Given the description of an element on the screen output the (x, y) to click on. 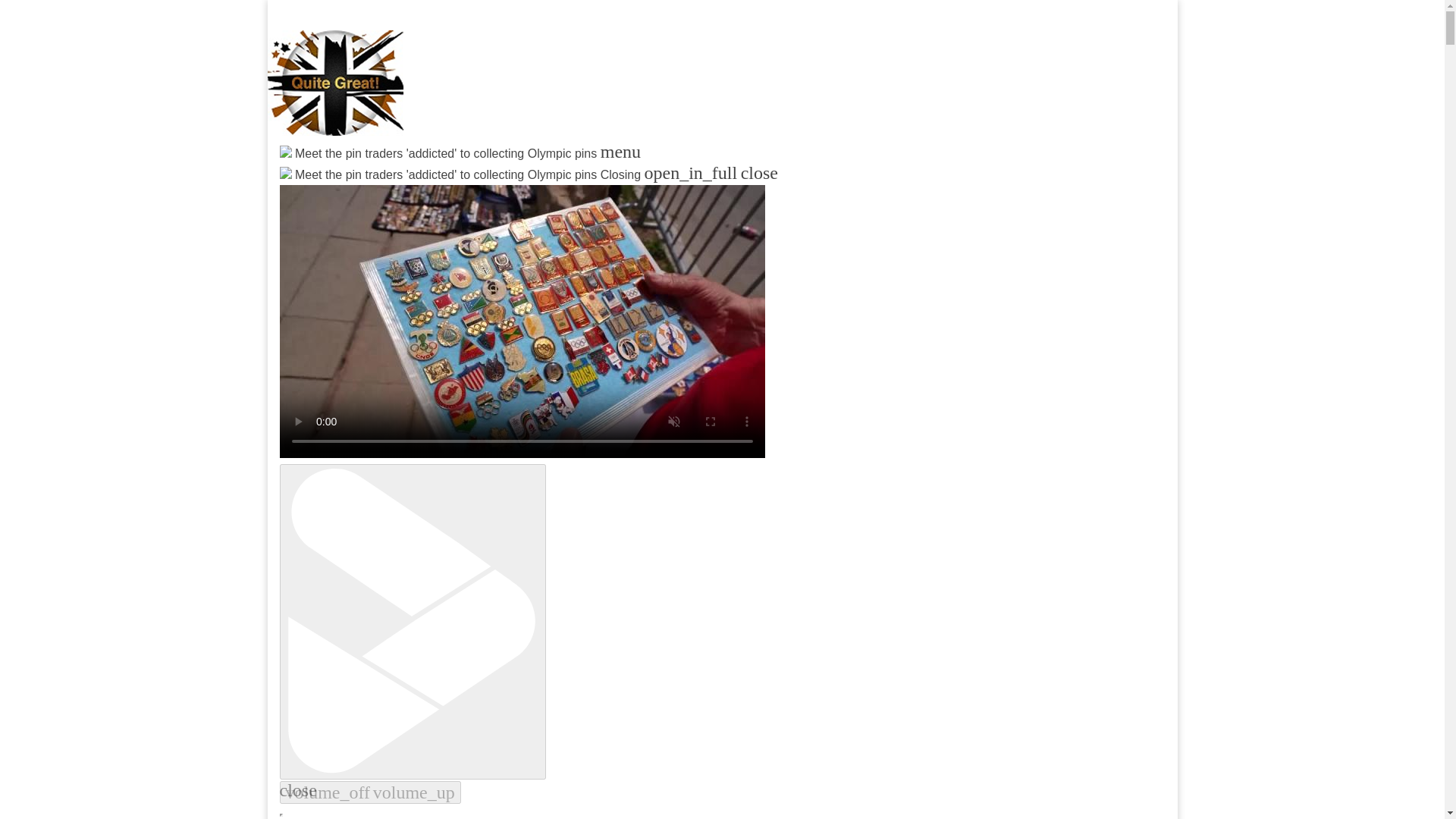
Skope Entertainment Inc (462, 190)
Skope Entertainment Inc (462, 190)
